Given the description of an element on the screen output the (x, y) to click on. 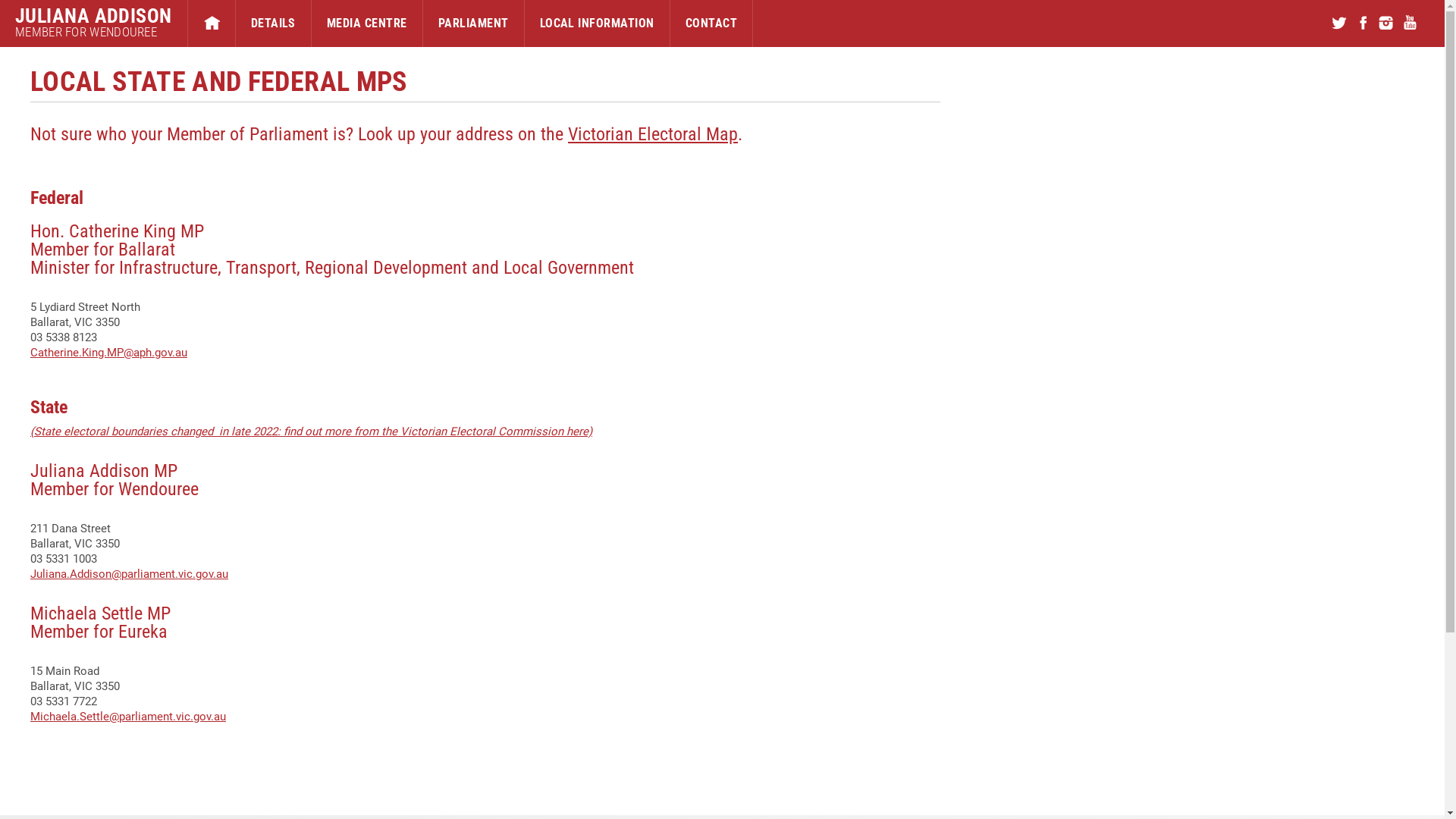
HOME Element type: text (211, 23)
Juliana.Addison@parliament.vic.gov.au Element type: text (129, 573)
LOCAL INFORMATION Element type: text (596, 23)
Victorian Electoral Map Element type: text (652, 133)
PARLIAMENT Element type: text (473, 23)
Catherine.King.MP@aph.gov.au Element type: text (108, 352)
DETAILS Element type: text (272, 23)
MEDIA CENTRE Element type: text (366, 23)
MEMBER FOR WENDOUREE Element type: text (93, 31)
Michaela.Settle@parliament.vic.gov.au Element type: text (127, 716)
JULIANA ADDISON Element type: text (93, 15)
CONTACT Element type: text (711, 23)
